Given the description of an element on the screen output the (x, y) to click on. 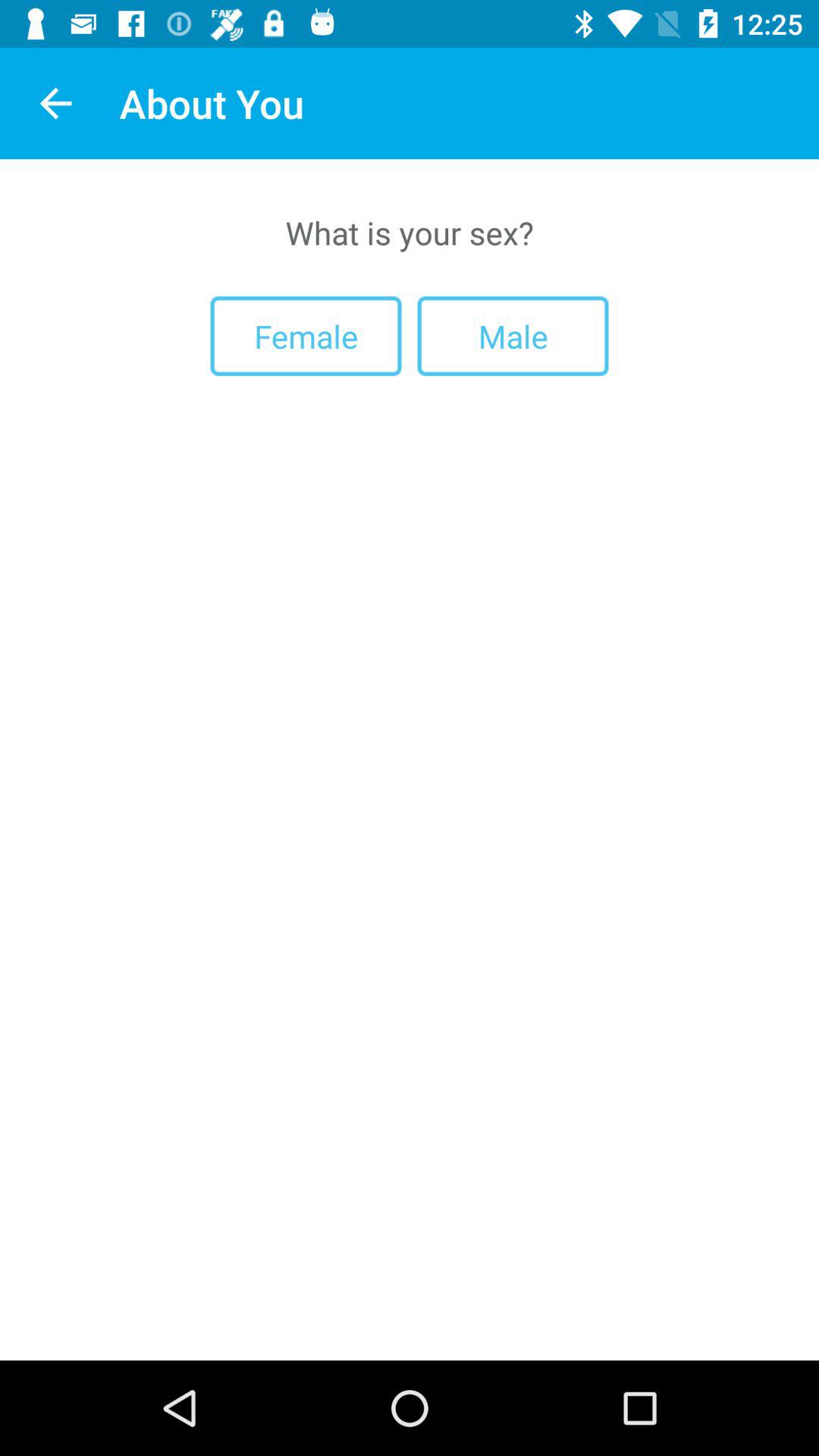
open item next to the female icon (512, 335)
